Given the description of an element on the screen output the (x, y) to click on. 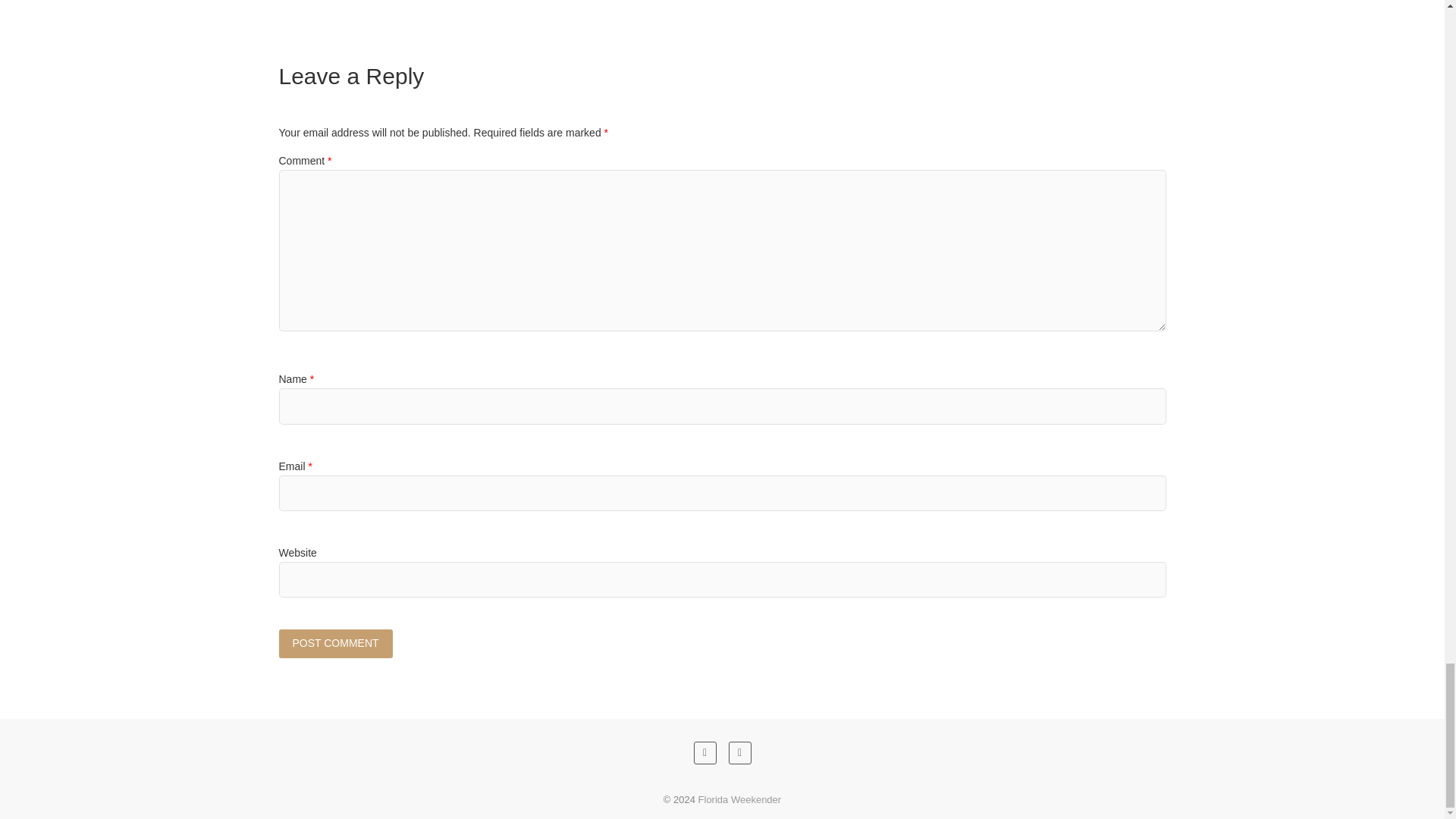
Post Comment (336, 643)
Florida Weekender (739, 799)
